Given the description of an element on the screen output the (x, y) to click on. 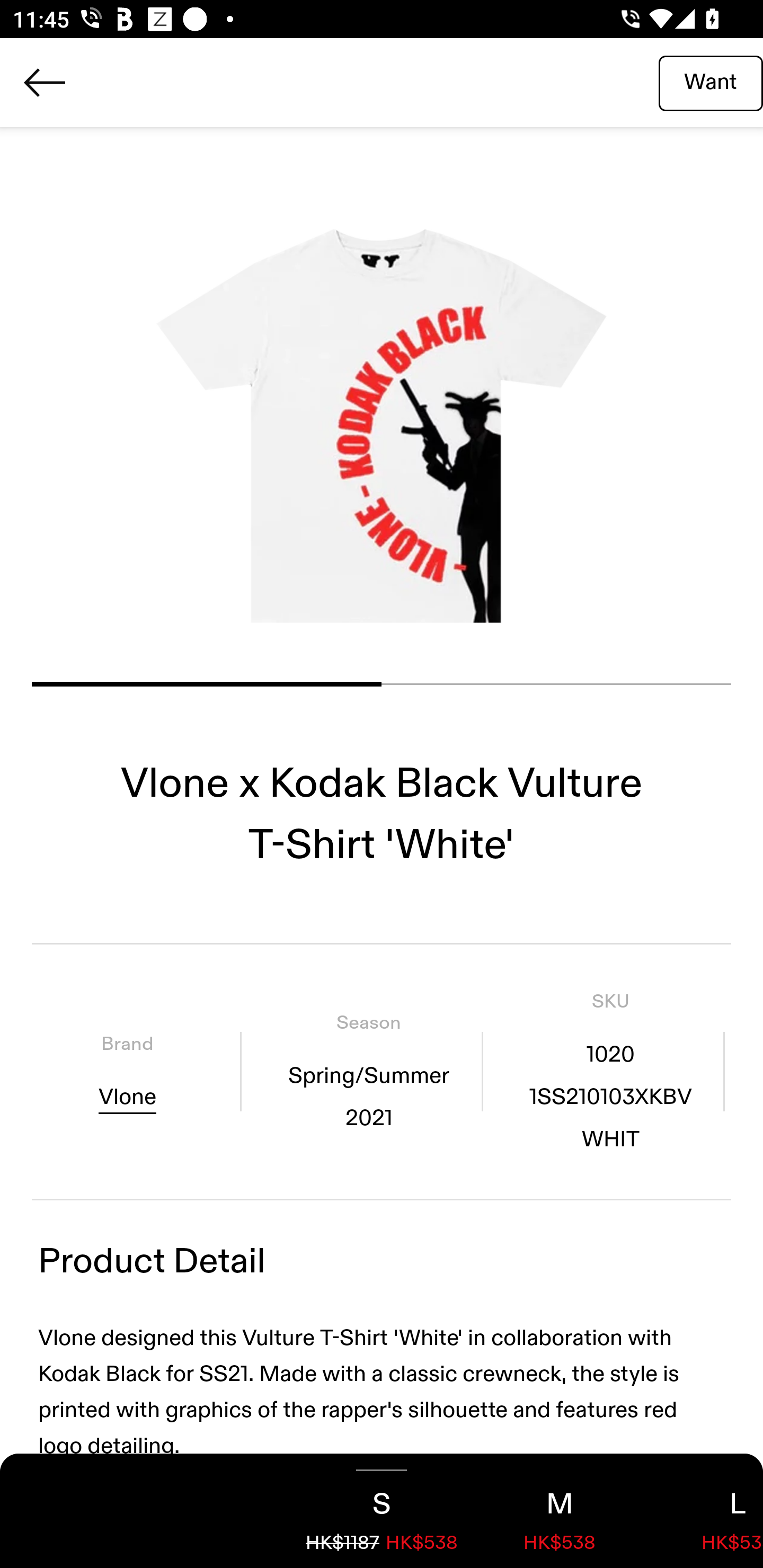
Want (710, 82)
Brand Vlone (126, 1070)
Season Spring/Summer 2021 (368, 1070)
SKU 1020 1SS210103XKBV WHIT (609, 1070)
S HK$1187 HK$538 (381, 1510)
M HK$538 (559, 1510)
L HK$538 (705, 1510)
